Given the description of an element on the screen output the (x, y) to click on. 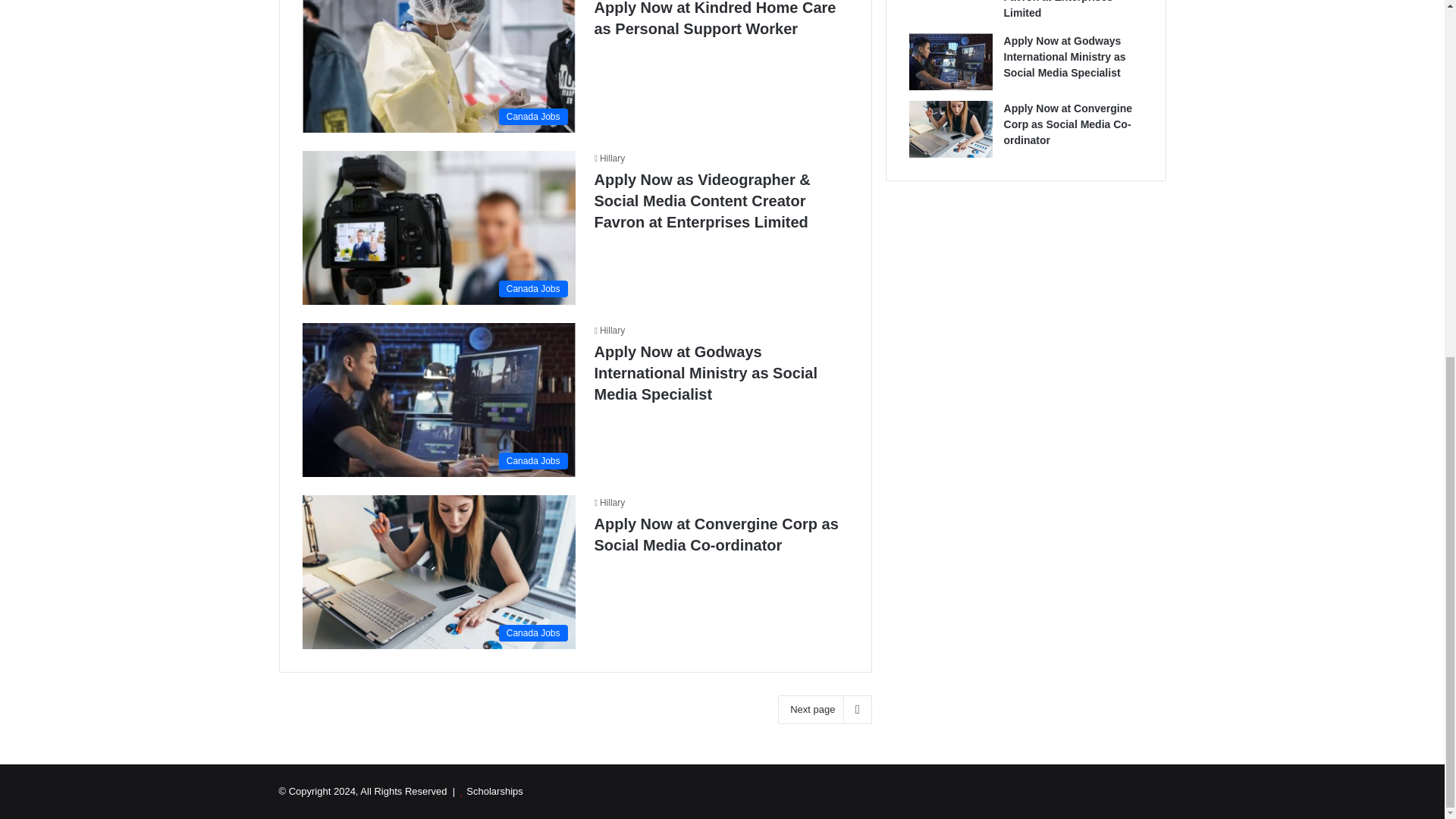
Scholarships (493, 790)
Hillary (610, 158)
Apply Now at Convergine Corp as Social Media Co-ordinator (716, 534)
Canada Jobs (438, 399)
Hillary (610, 330)
Canada Jobs (438, 66)
Apply Now at Kindred Home Care as Personal Support Worker (714, 18)
Canada Jobs (438, 227)
Hillary (610, 158)
